Given the description of an element on the screen output the (x, y) to click on. 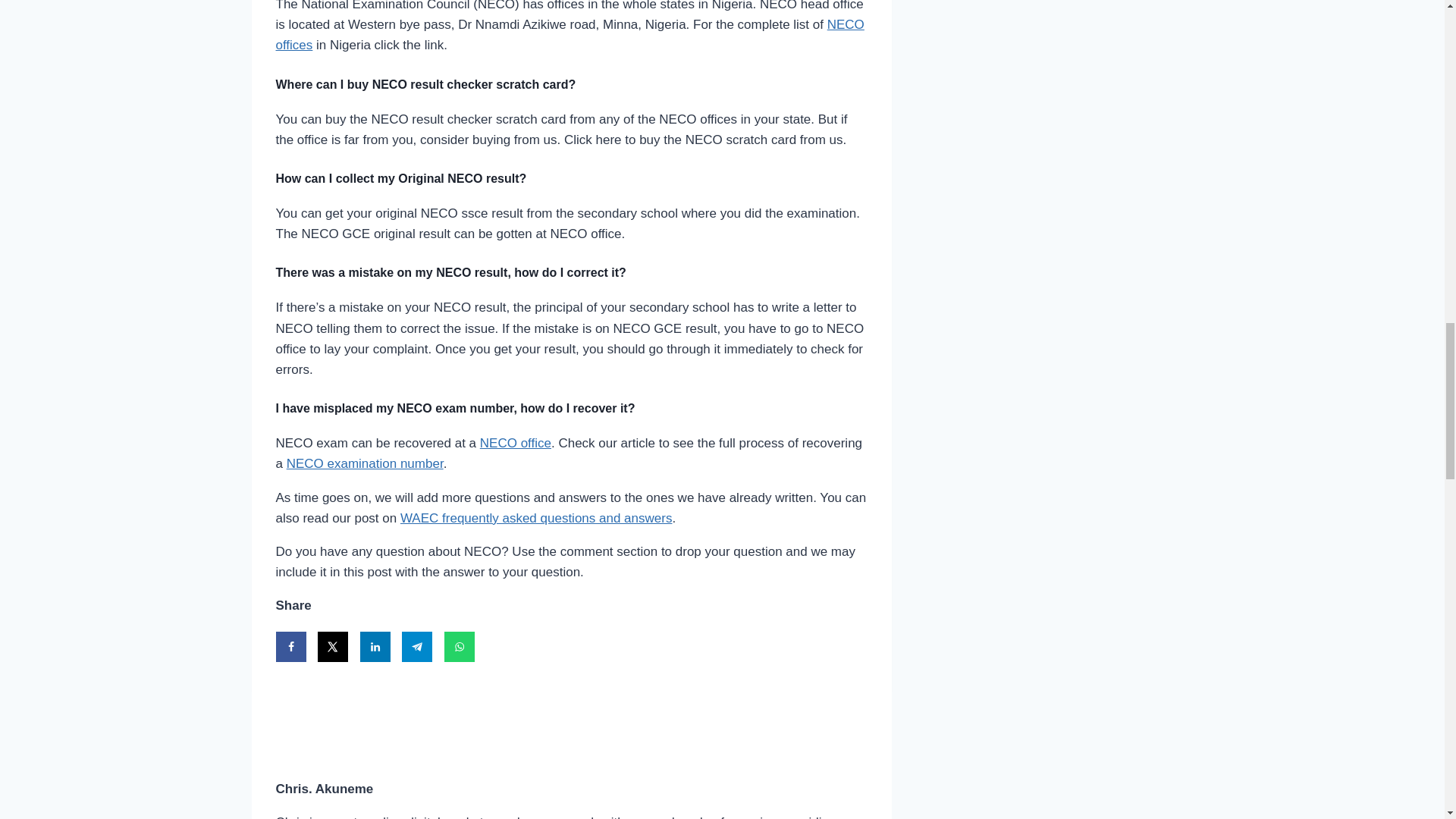
Share on LinkedIn (374, 646)
NECO offices (570, 34)
Share on WhatsApp (459, 646)
Share on Telegram (416, 646)
Share on Facebook (290, 646)
NECO office (515, 442)
Share on X (332, 646)
